Given the description of an element on the screen output the (x, y) to click on. 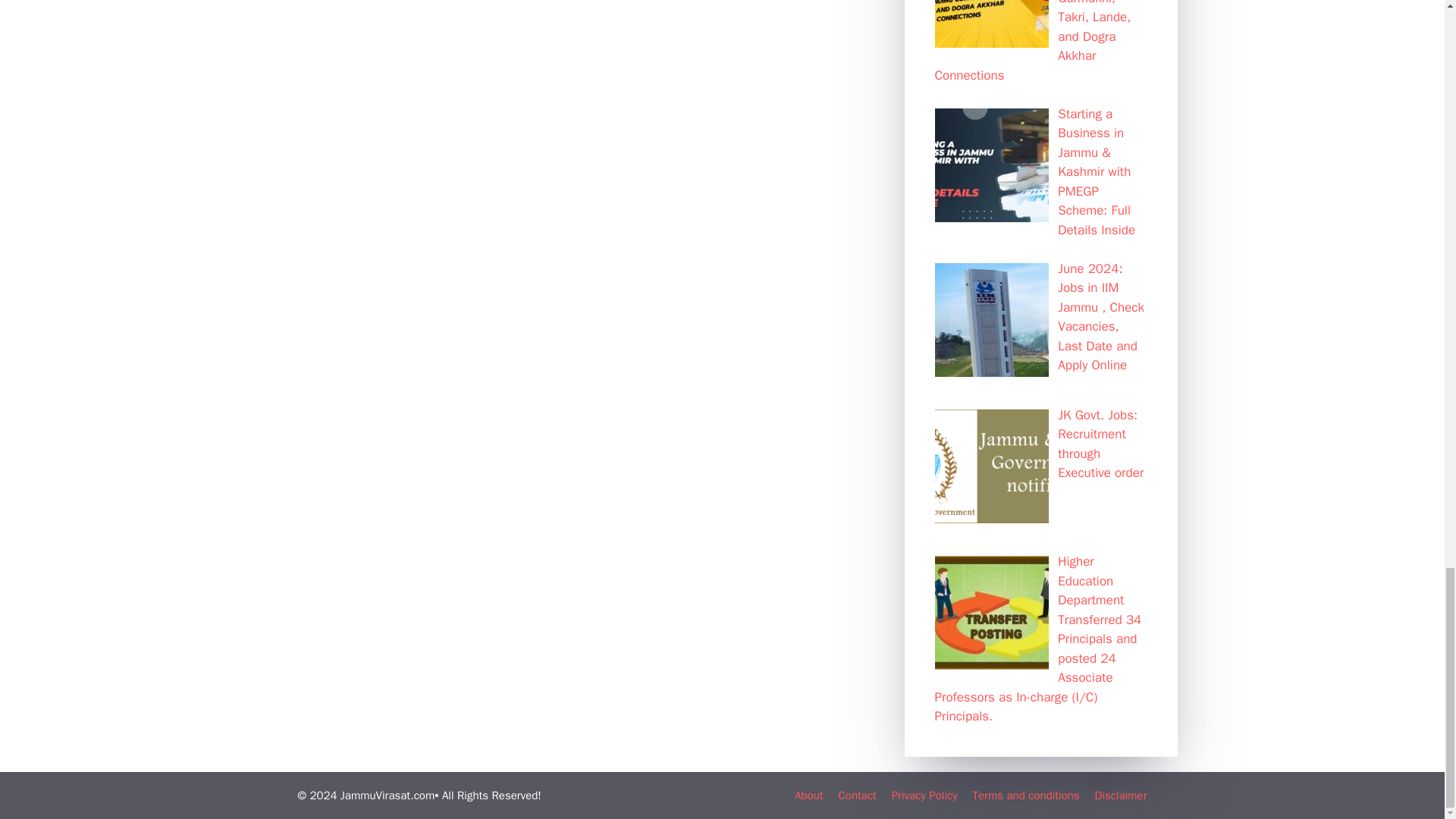
Terms and conditions (1025, 795)
Disclaimer (1120, 795)
About (808, 795)
Privacy Policy (924, 795)
JK Govt. Jobs: Recruitment through Executive order (1100, 444)
Contact (857, 795)
